Given the description of an element on the screen output the (x, y) to click on. 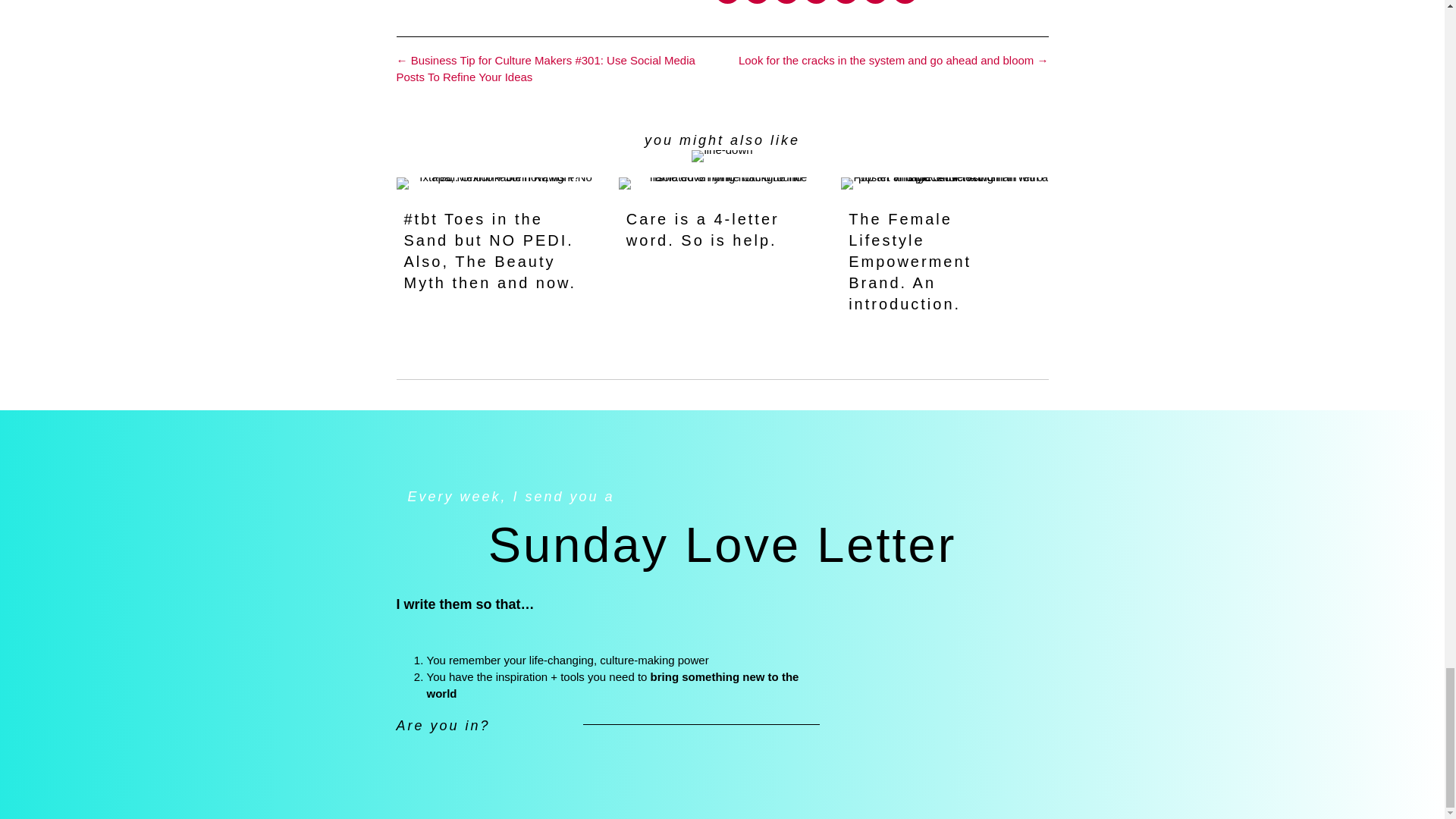
Twitter (757, 2)
Facebook (727, 2)
Pinterest (816, 2)
Linkedin (786, 2)
